Given the description of an element on the screen output the (x, y) to click on. 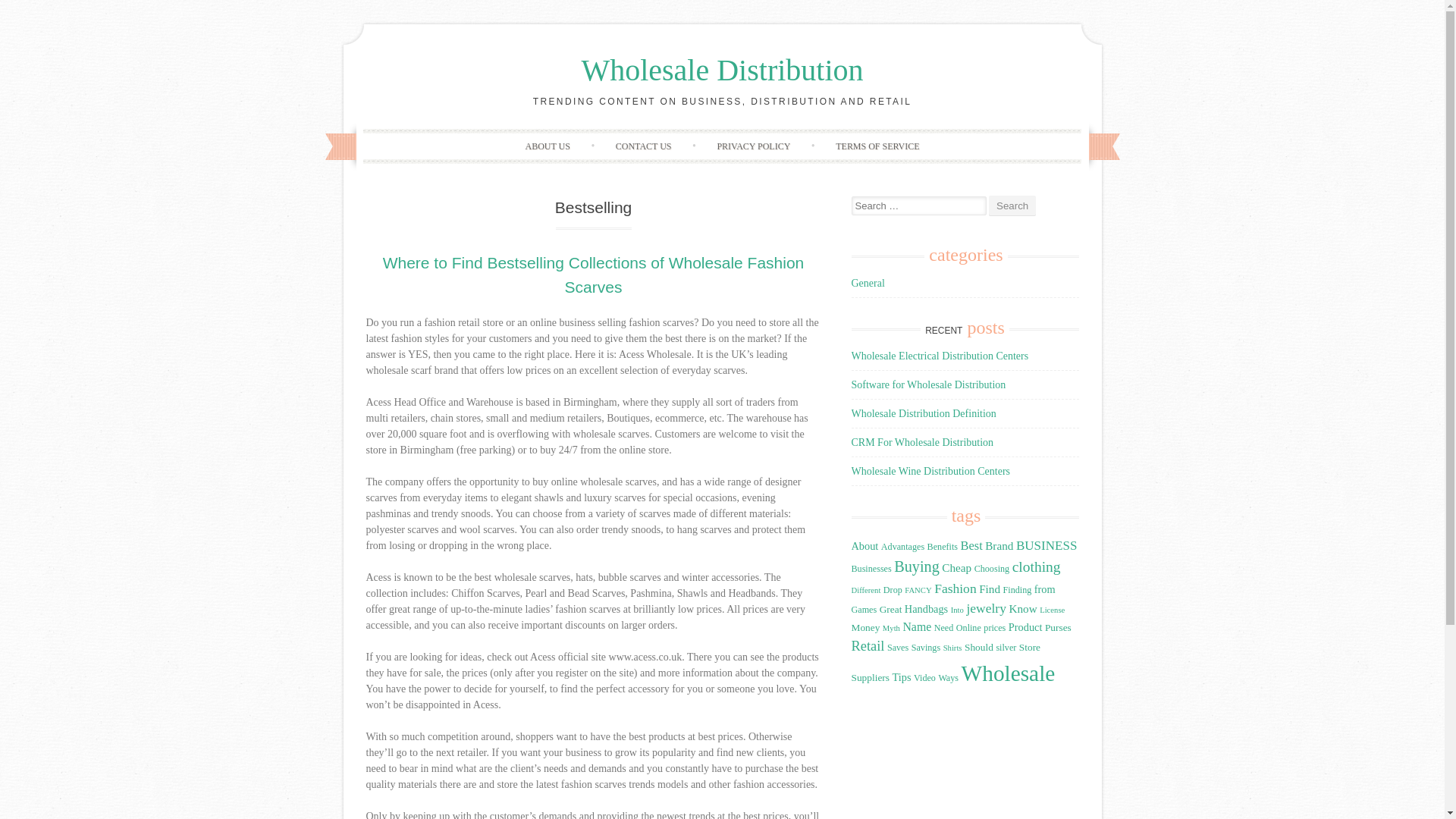
TERMS OF SERVICE (876, 145)
Best (971, 545)
General (866, 283)
PRIVACY POLICY (753, 145)
Wholesale Wine Distribution Centers (930, 471)
Advantages (902, 546)
clothing (1036, 566)
Search (1011, 205)
Brand (999, 545)
Cheap (956, 567)
Different (865, 590)
Wholesale Electrical Distribution Centers (938, 355)
ABOUT US (547, 145)
About (863, 545)
FANCY (917, 590)
